Given the description of an element on the screen output the (x, y) to click on. 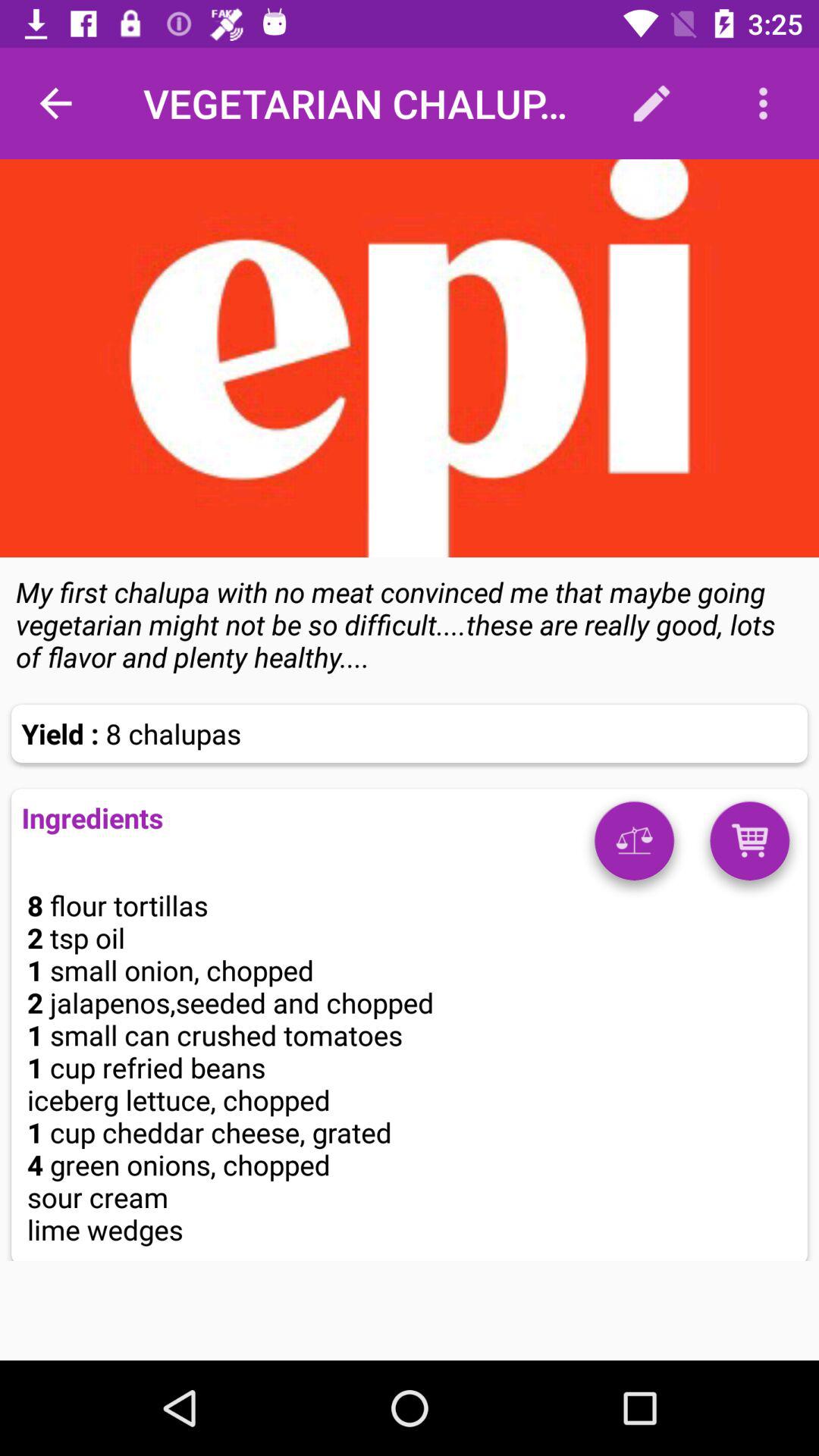
weights option (634, 846)
